Given the description of an element on the screen output the (x, y) to click on. 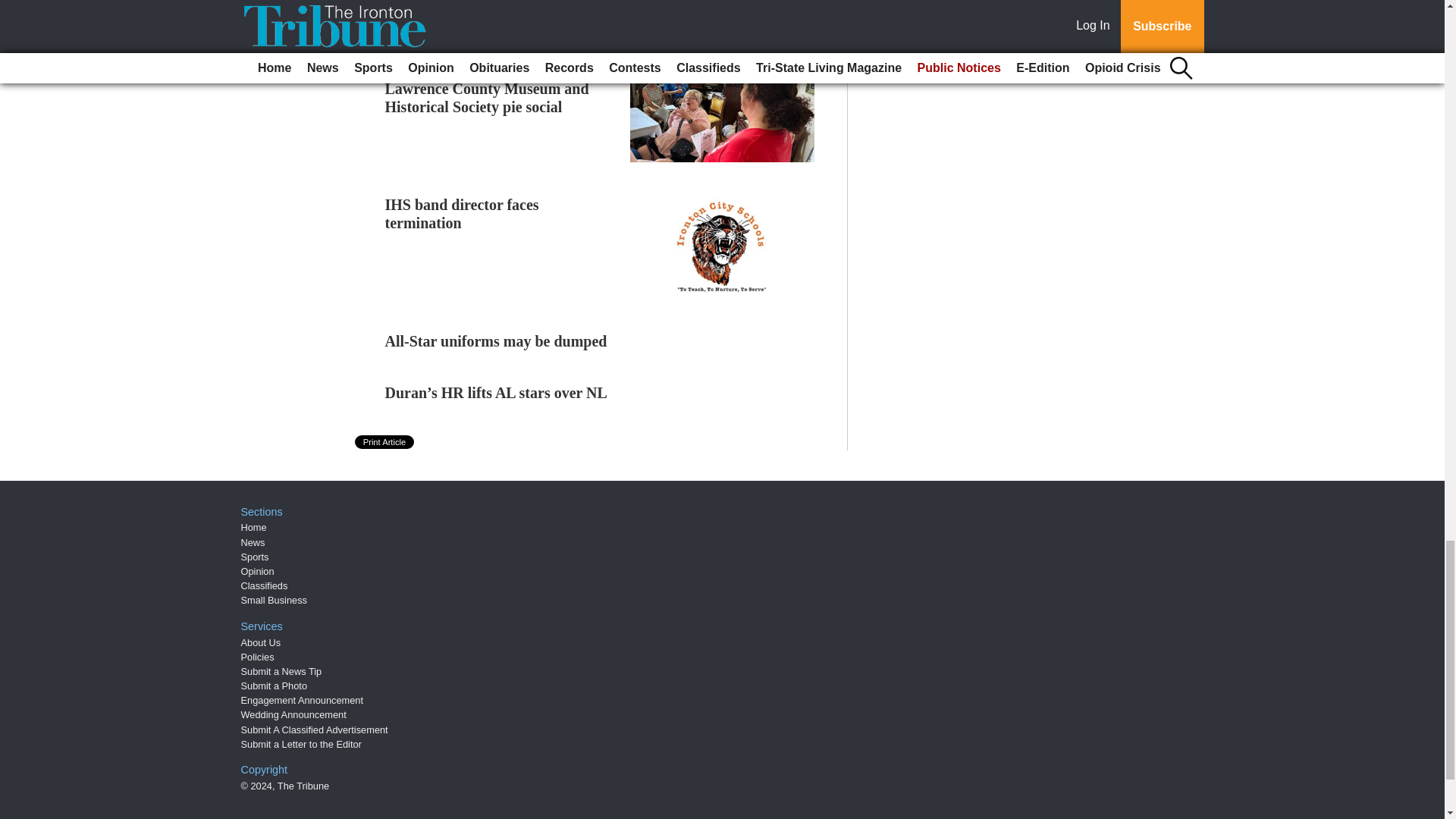
All-Star uniforms may be dumped (496, 340)
IHS band director faces termination (461, 213)
Sports (255, 556)
Home (253, 527)
News (252, 542)
IHS band director faces termination (461, 213)
Opinion (258, 571)
All-Star uniforms may be dumped (496, 340)
Print Article (384, 441)
